Given the description of an element on the screen output the (x, y) to click on. 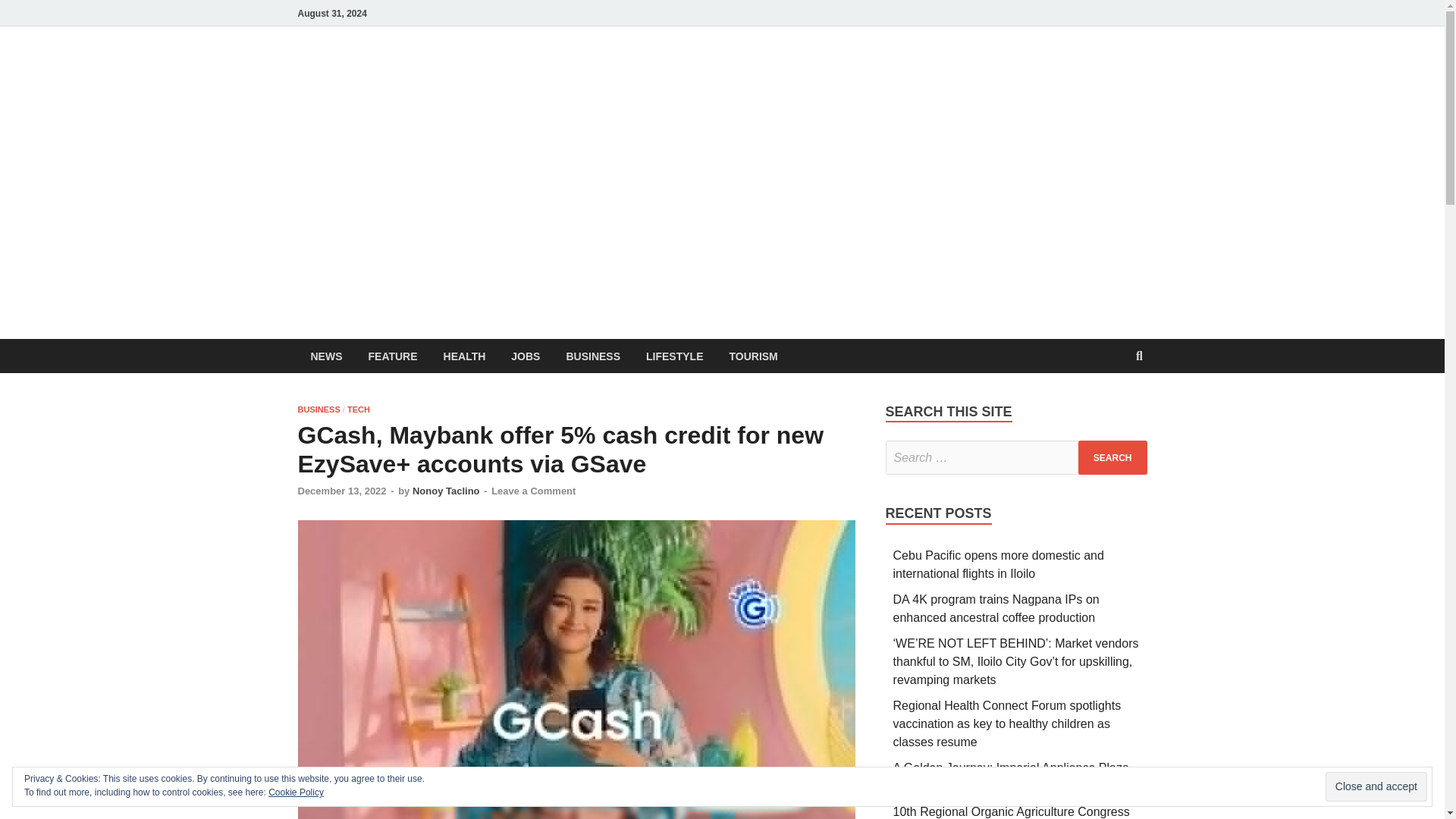
Search (1112, 457)
LIFESTYLE (674, 356)
December 13, 2022 (341, 490)
Search (1112, 457)
HEALTH (464, 356)
Close and accept (1375, 786)
TOURISM (753, 356)
Leave a Comment (533, 490)
